Given the description of an element on the screen output the (x, y) to click on. 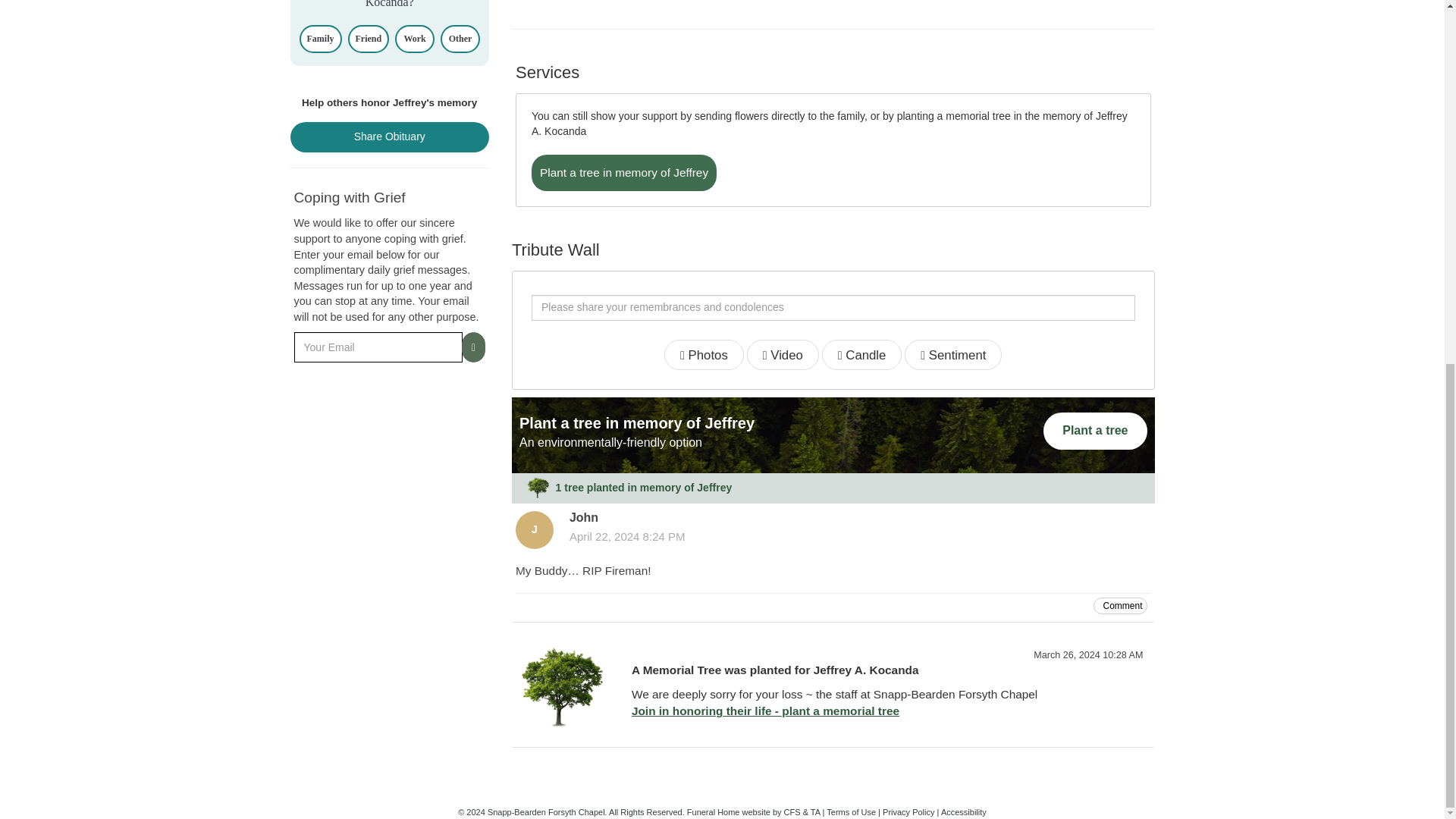
Terms of Use (851, 811)
Share Obituary (389, 137)
TA (815, 811)
CFS (792, 811)
Join in honoring their life - plant a memorial tree (765, 710)
  Comment (1120, 605)
Plant a tree in memory of Jeffrey (623, 172)
John (534, 529)
Plant a tree (1095, 430)
Plant a tree (1095, 430)
